Given the description of an element on the screen output the (x, y) to click on. 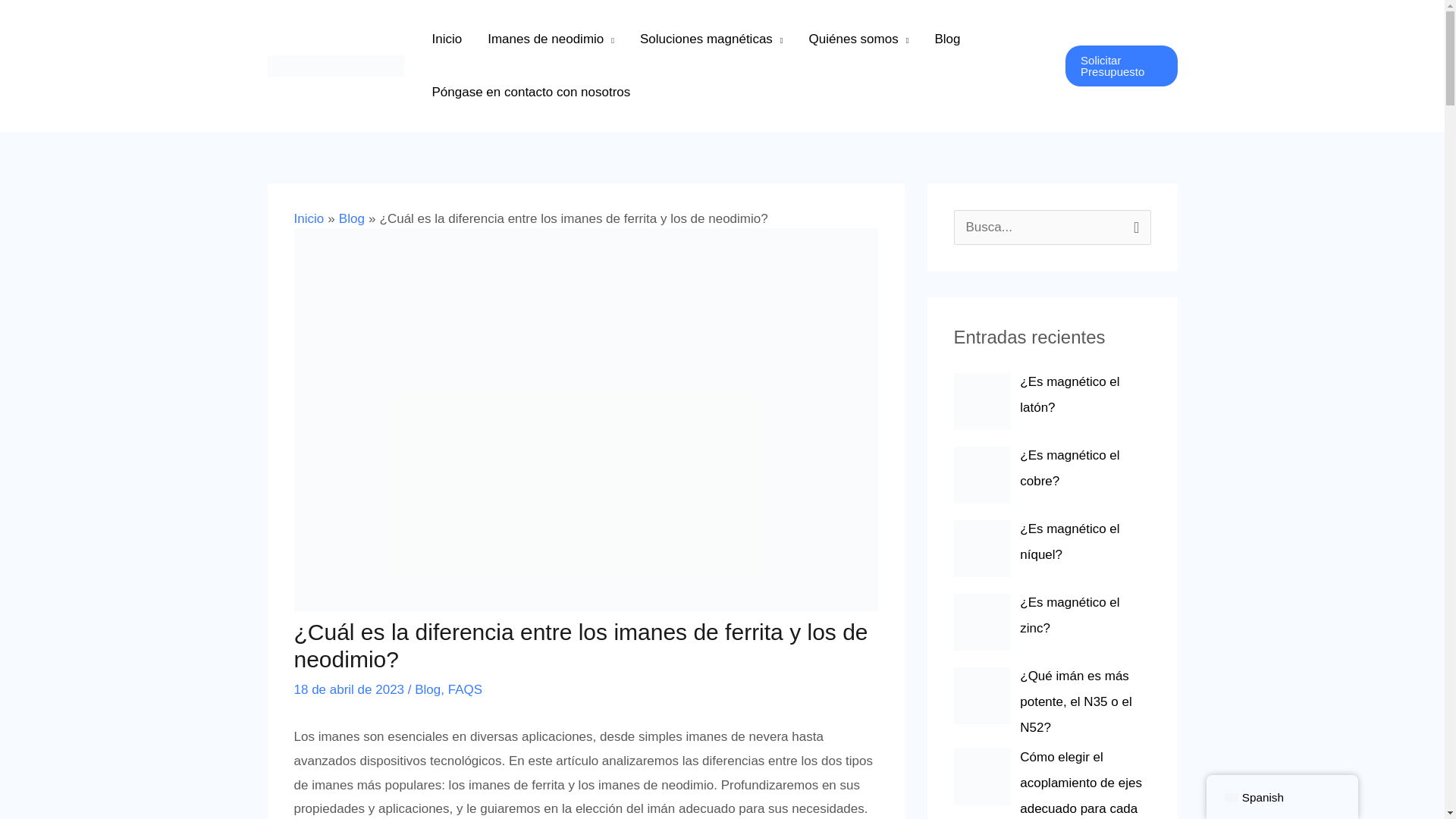
Buscar en (1133, 225)
Imanes de neodimio (550, 39)
Spanish (1231, 797)
Buscar en (1133, 225)
Inicio (446, 39)
